Given the description of an element on the screen output the (x, y) to click on. 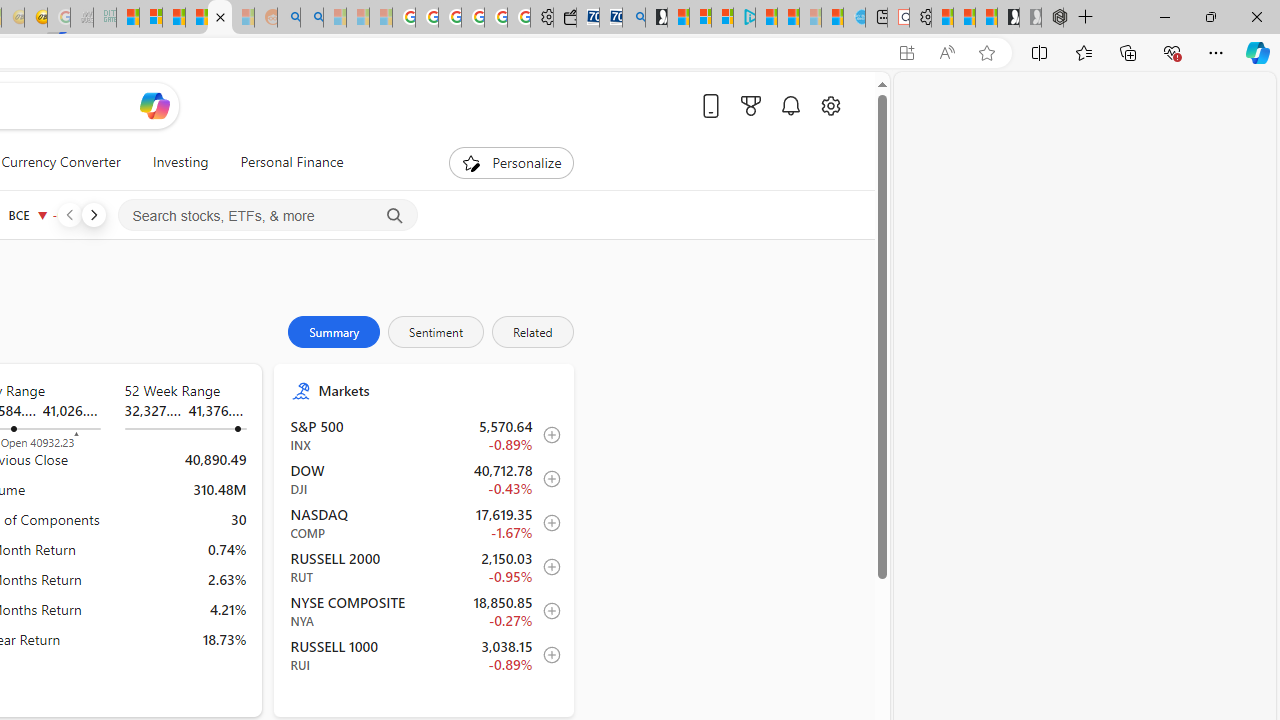
Sentiment (435, 331)
Personalize (511, 162)
Previous (69, 214)
Investing (180, 162)
DJI DOW decrease 40,712.78 -177.71 -0.43% itemundefined (423, 479)
Investing (180, 162)
Search stocks, ETFs, & more (267, 215)
